Given the description of an element on the screen output the (x, y) to click on. 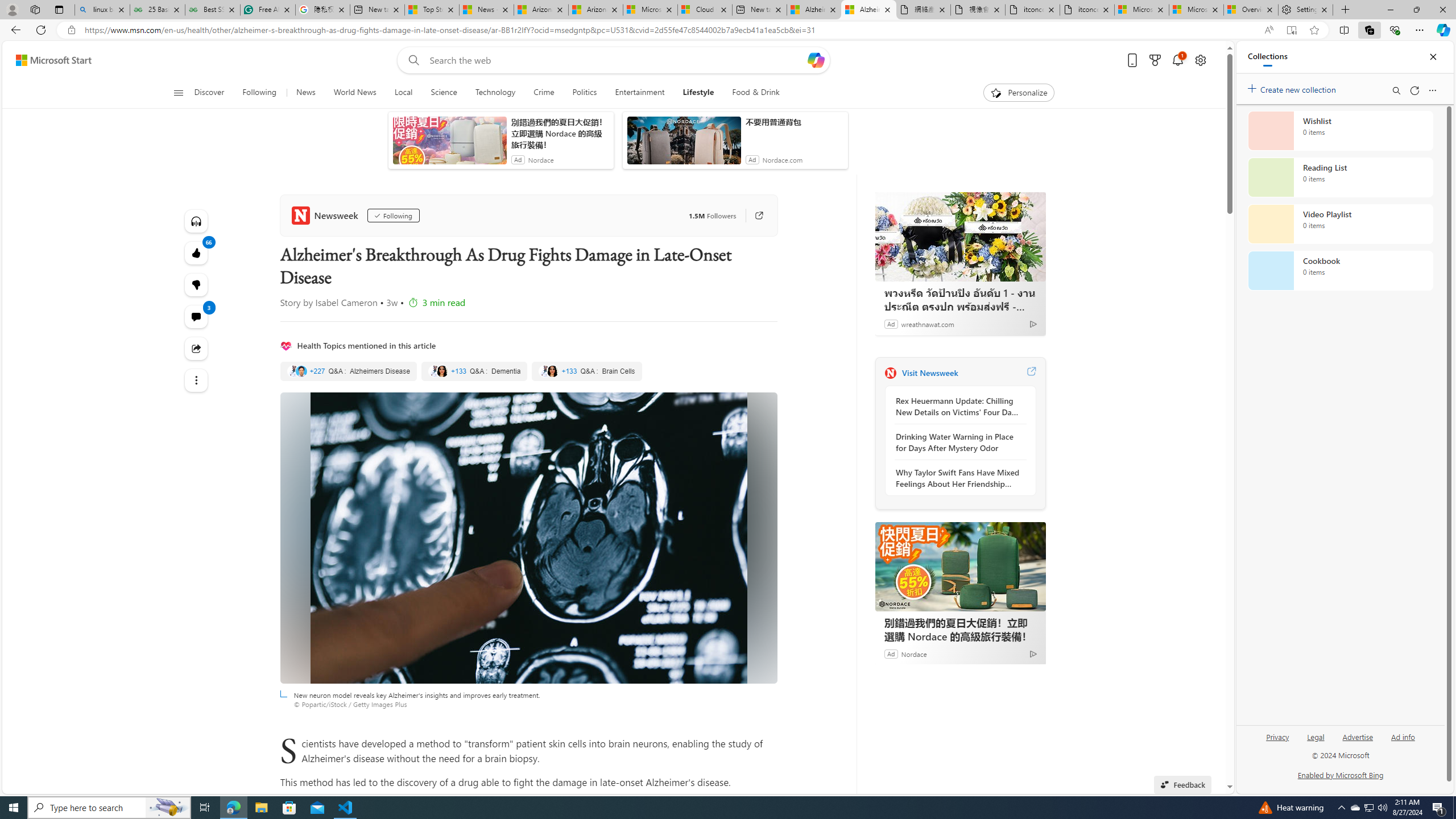
Cookbook collection, 0 items (1339, 270)
wreathnawat.com (927, 323)
Enter your search term (617, 59)
Visit Newsweek website (1031, 372)
